Given the description of an element on the screen output the (x, y) to click on. 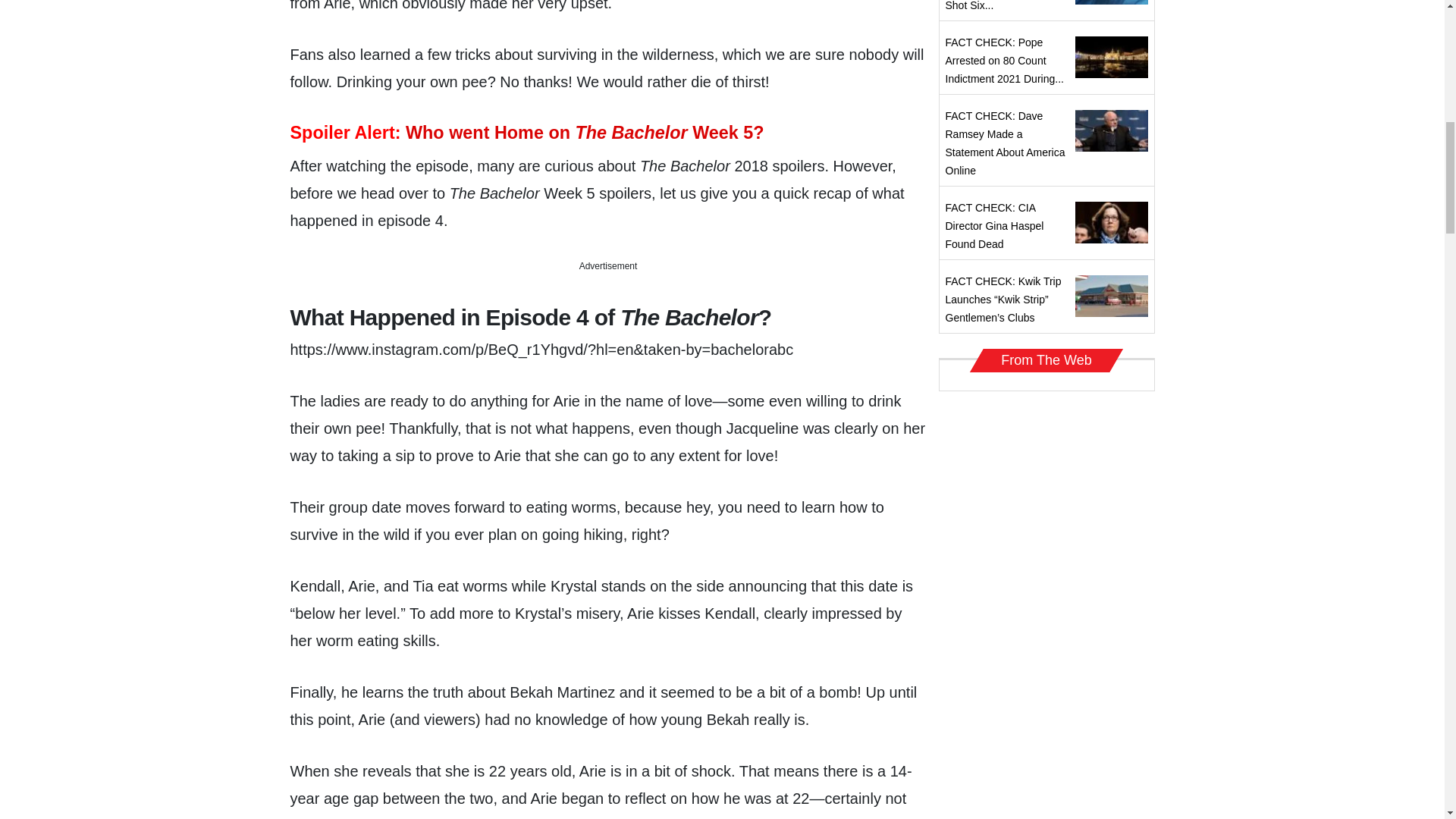
FACT CHECK: CIA Director Gina Haspel Found Dead (993, 225)
FACT CHECK: Alleged King Von Killer, Lul Tim Shot Six... (998, 5)
Who went Home on The Bachelor Week 5? (585, 132)
